Given the description of an element on the screen output the (x, y) to click on. 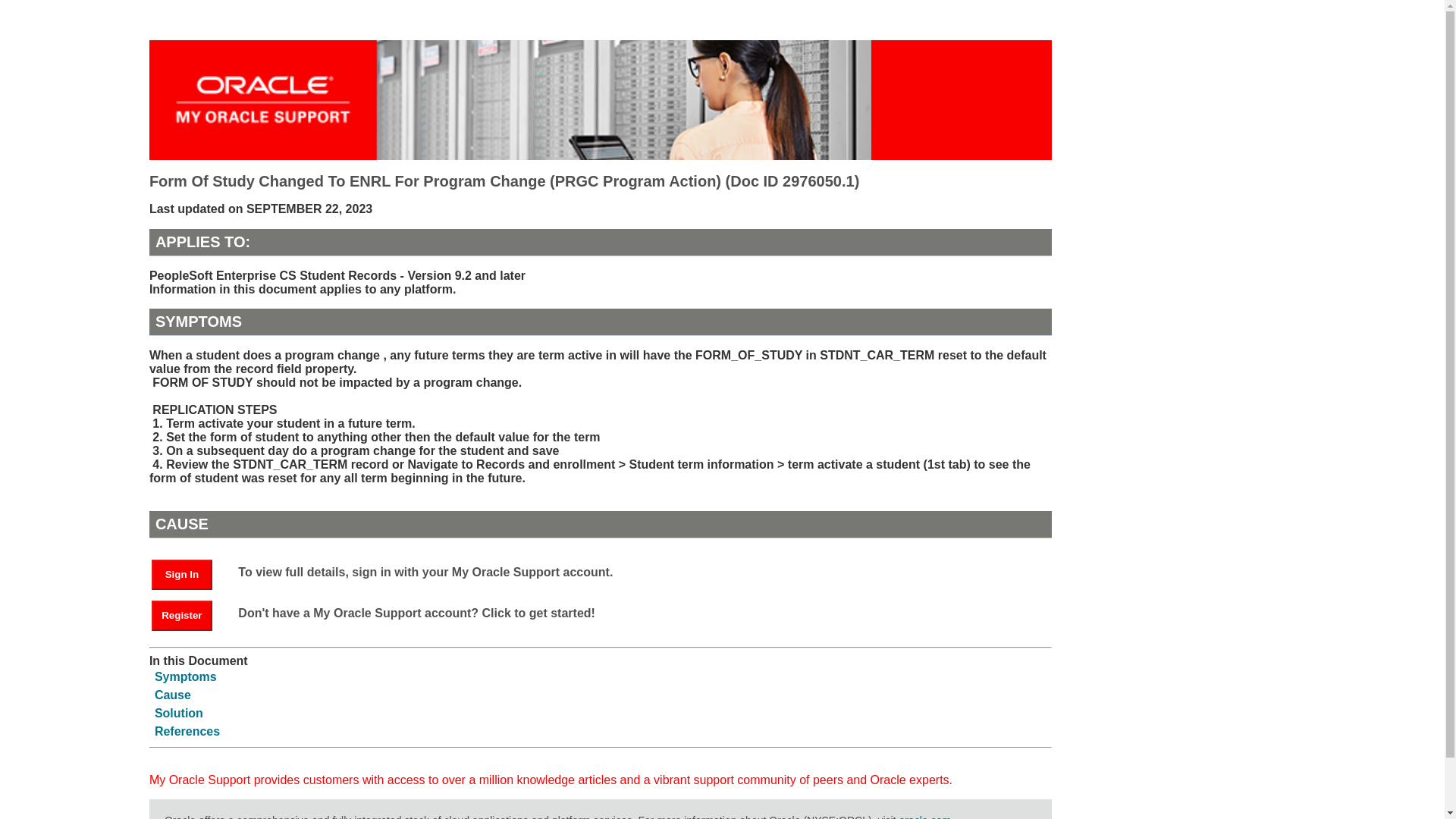
Register (181, 615)
Sign In (189, 573)
Solution (178, 712)
References (186, 730)
Cause (172, 694)
Register (189, 614)
Sign In (181, 574)
oracle.com (924, 816)
oracle.com (924, 816)
Symptoms (185, 676)
